Given the description of an element on the screen output the (x, y) to click on. 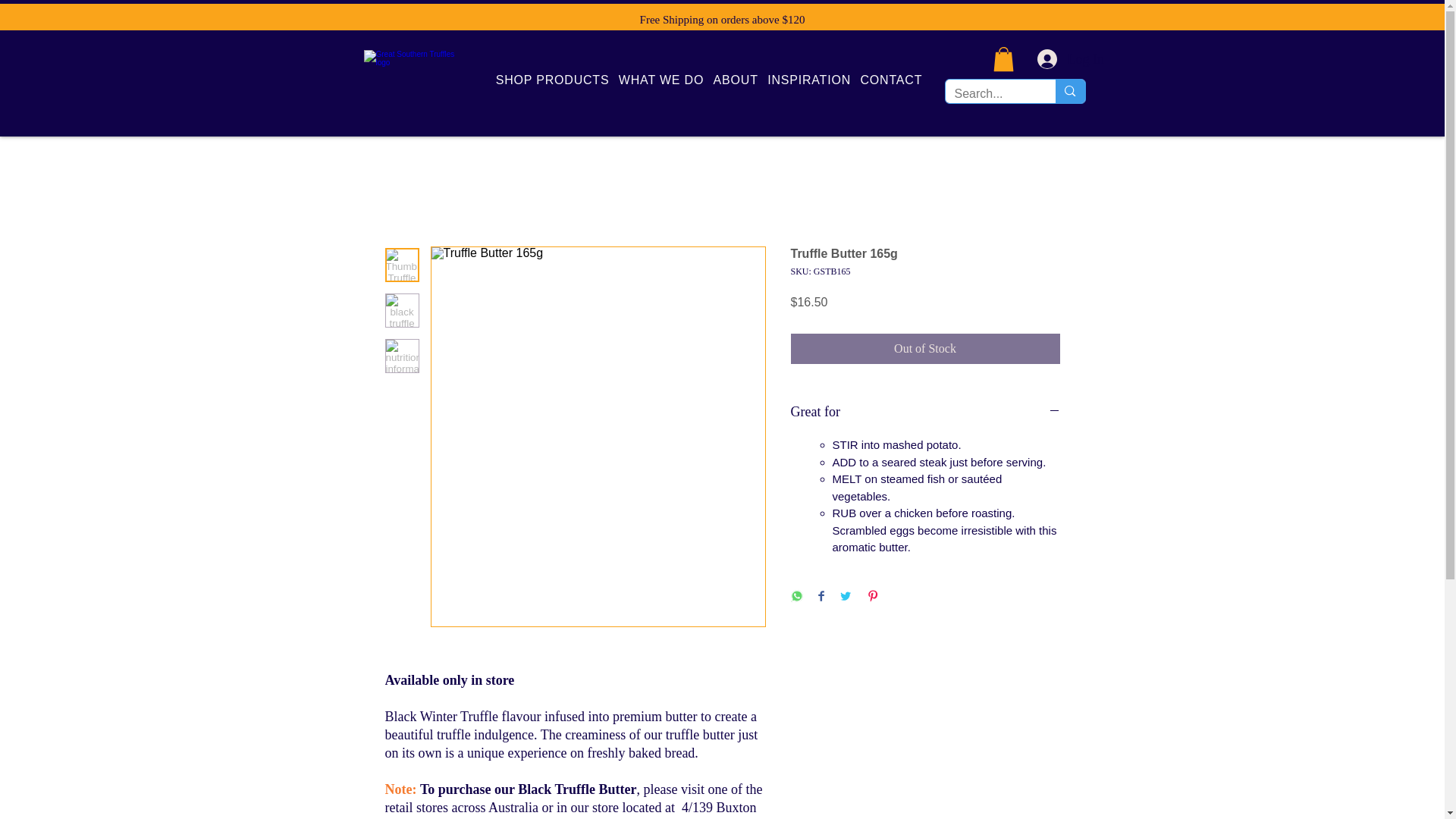
CONTACT (891, 80)
Great for (924, 412)
Out of Stock (924, 348)
INSPIRATION (809, 80)
Log In (1052, 59)
